Given the description of an element on the screen output the (x, y) to click on. 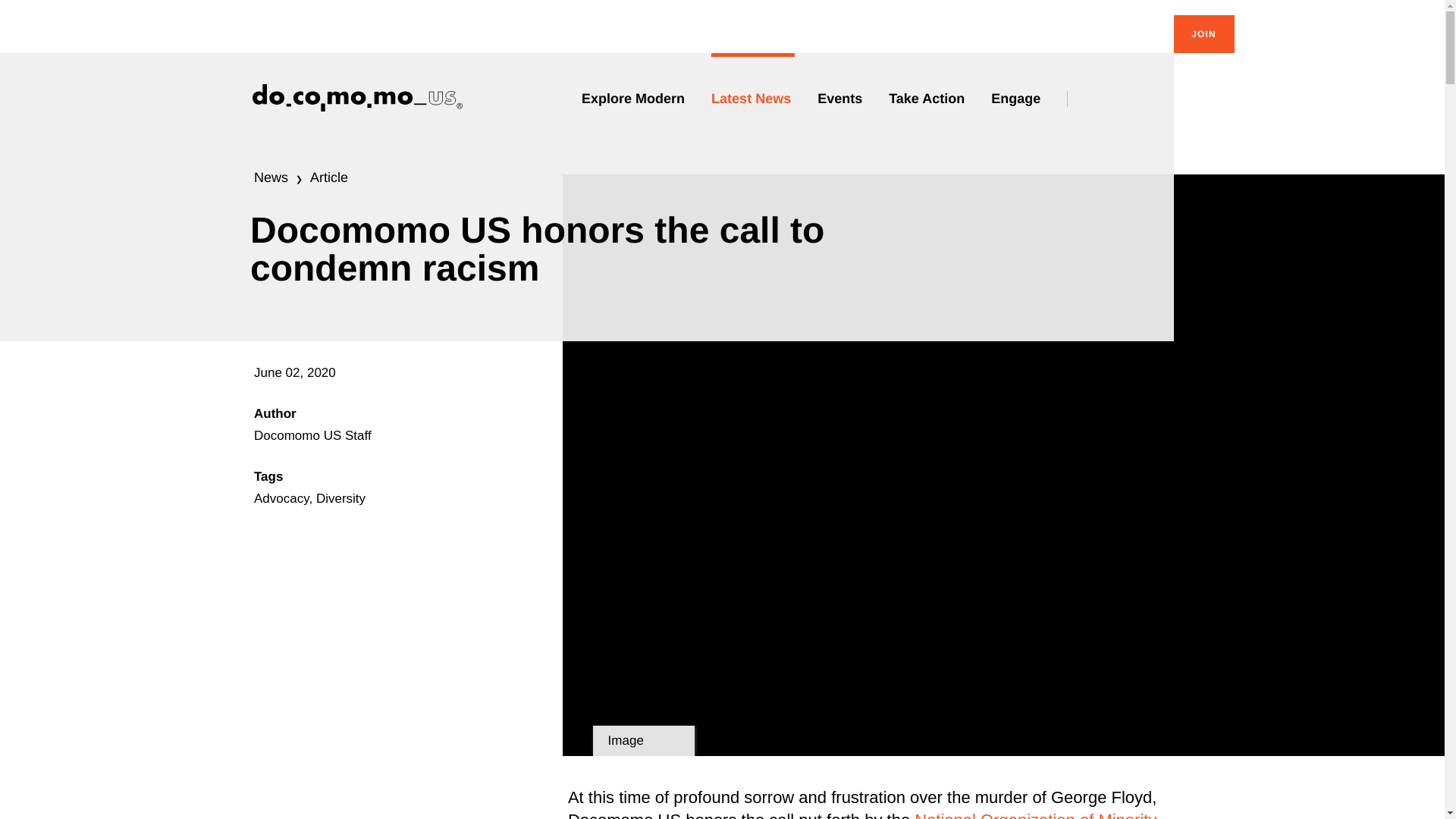
Take Action (928, 98)
Join (1203, 34)
Image details (643, 740)
Events (841, 98)
Engage (1017, 98)
Latest News (752, 98)
Explore Modern (634, 98)
Events (841, 98)
Latest News (752, 98)
Take Action (928, 98)
Engage (1017, 98)
National Organization of Minority Architects (862, 814)
JOIN (1203, 34)
Article (328, 177)
Explore Modern (634, 98)
